Given the description of an element on the screen output the (x, y) to click on. 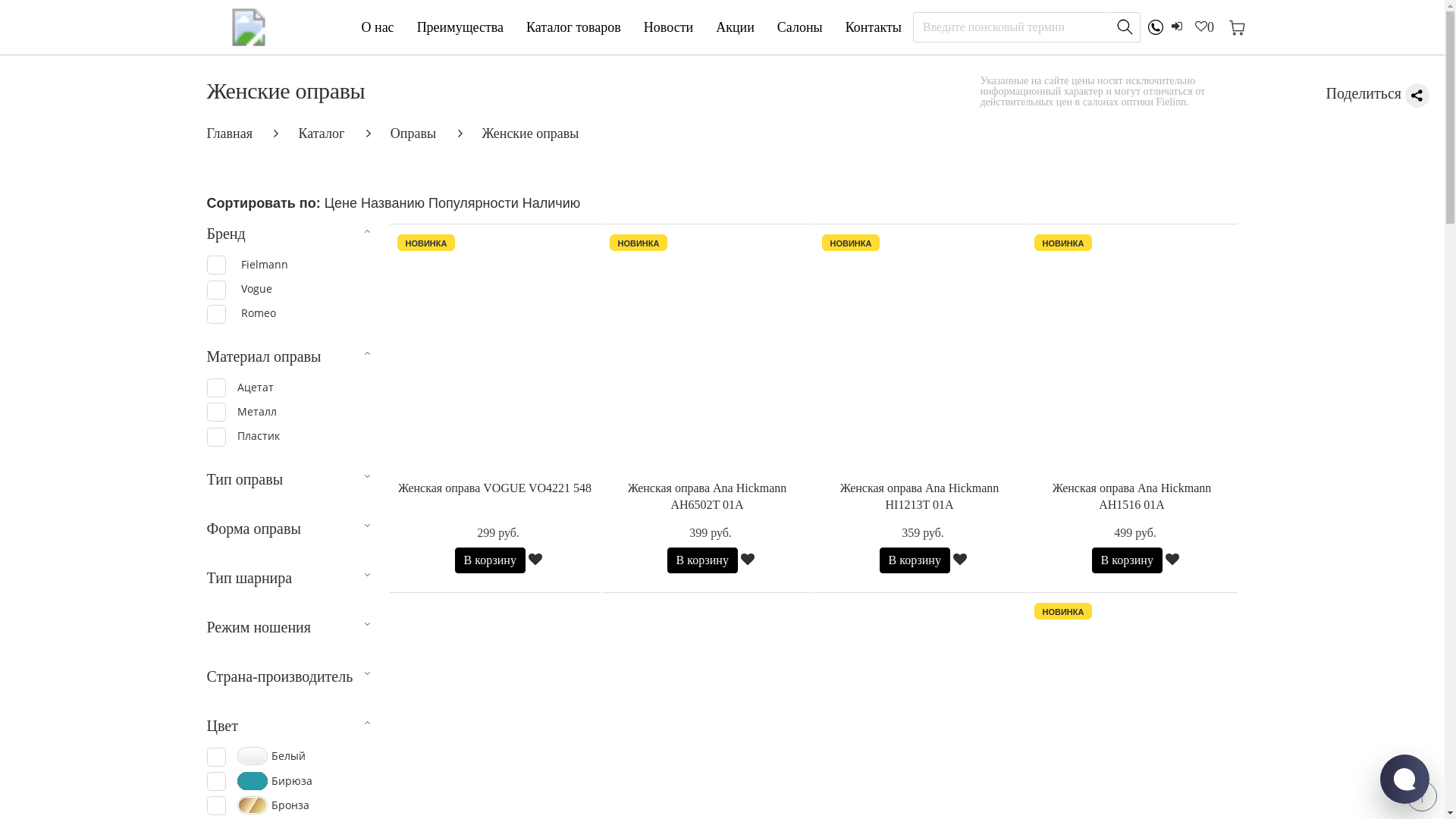
Vogue Element type: text (238, 288)
Fielmann Element type: text (246, 264)
Y Element type: text (215, 436)
Y Element type: text (215, 387)
Y Element type: text (215, 411)
Romeo Element type: text (240, 313)
